Given the description of an element on the screen output the (x, y) to click on. 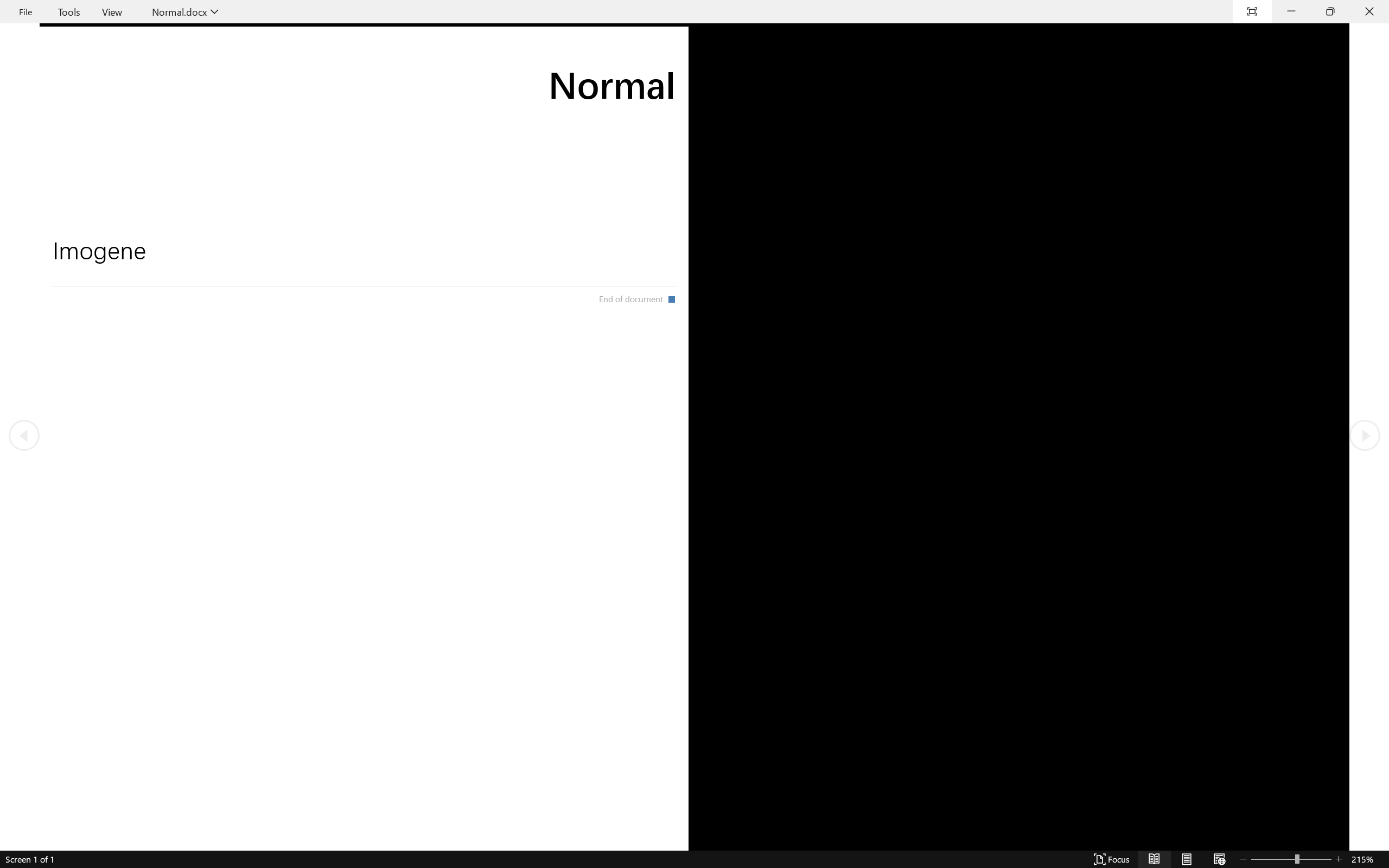
Line (539, 48)
Change Case (263, 71)
Decrease Font Size (296, 52)
Reset (131, 62)
Vertical Text Box (528, 48)
Text Highlight Color Yellow (283, 71)
Justify (372, 71)
